Given the description of an element on the screen output the (x, y) to click on. 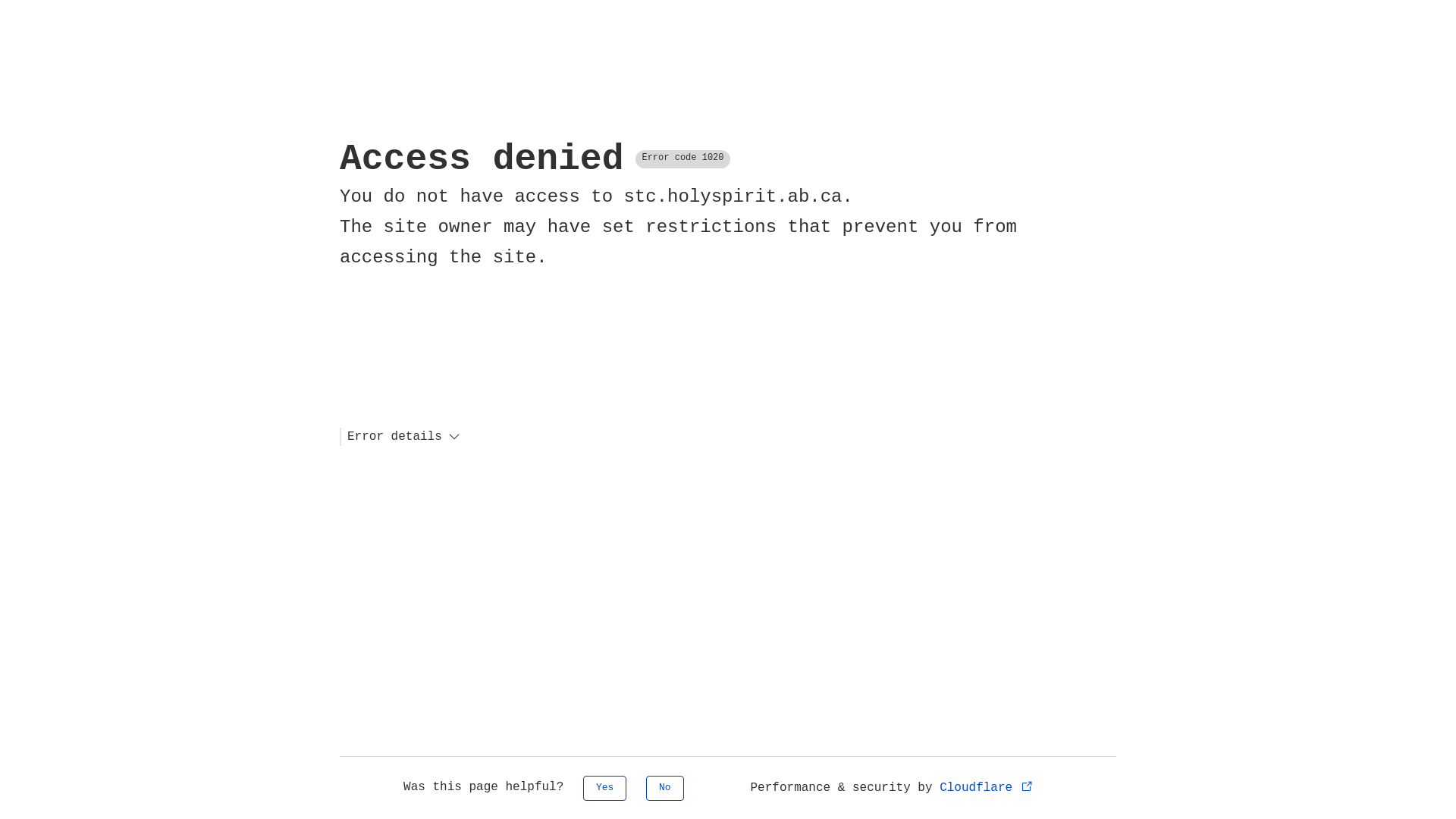
Yes Element type: text (604, 787)
Cloudflare Element type: text (986, 787)
Opens in new tab Element type: hover (1027, 785)
No Element type: text (665, 787)
